Given the description of an element on the screen output the (x, y) to click on. 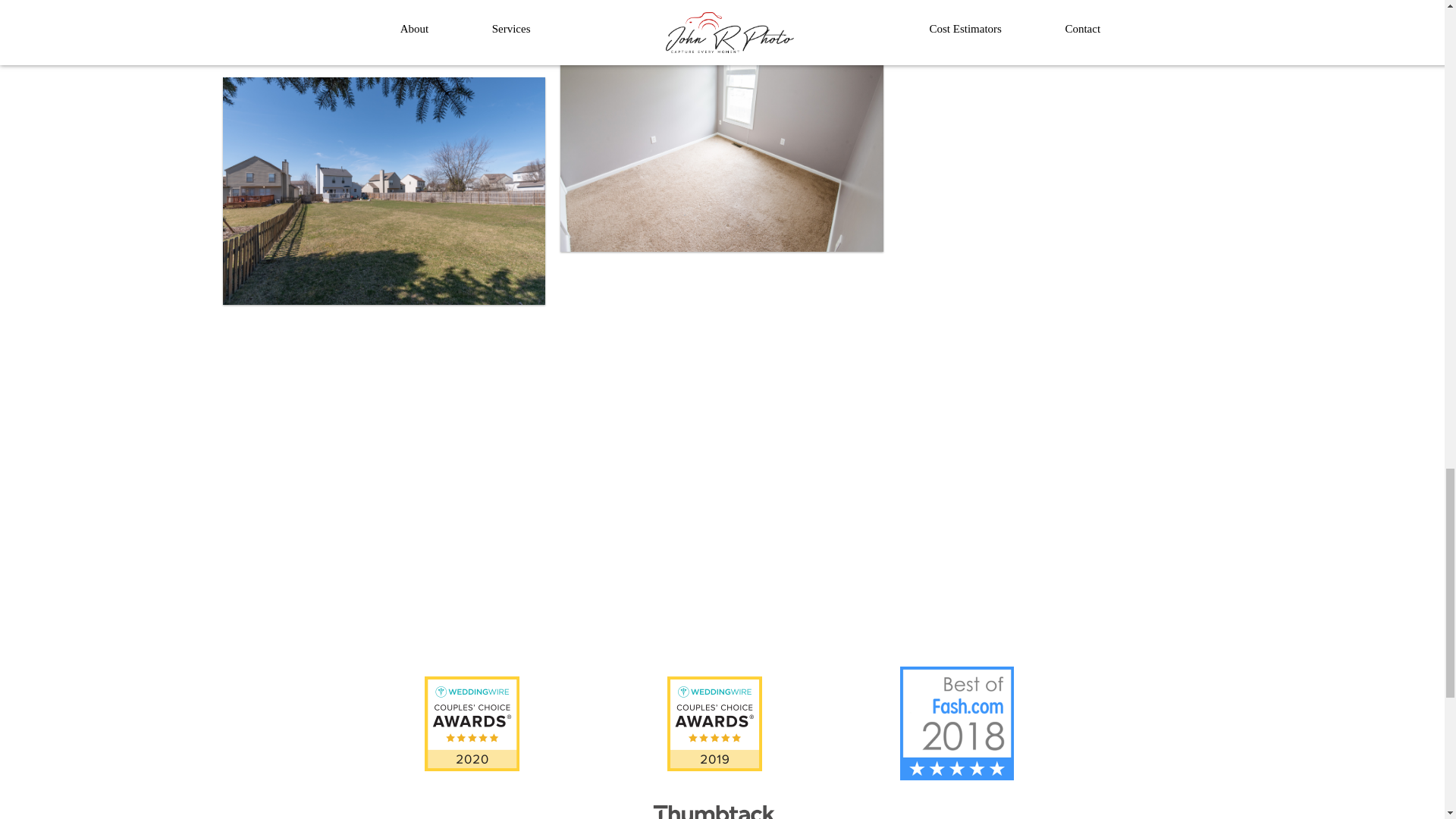
WeddingWire Couples' Choice Award Winner 2019 (713, 722)
WeddingWire Couples' Choice Award Winner 2020 (472, 722)
Send (695, 569)
